Given the description of an element on the screen output the (x, y) to click on. 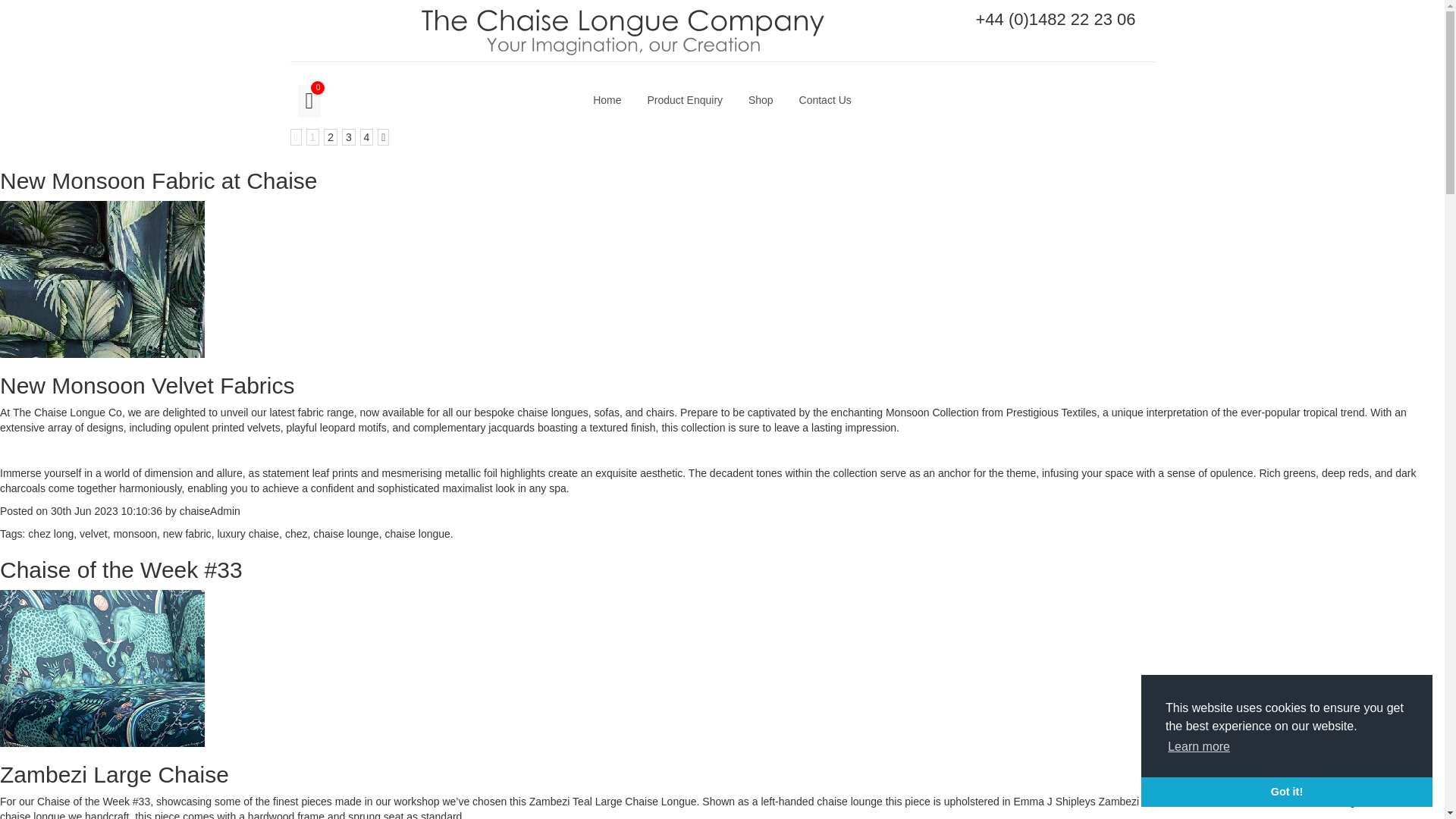
Product Enquiry (683, 99)
new fabric (187, 533)
The Chaise Longue Co. (623, 30)
Learn more (1198, 746)
monsoon (135, 533)
chaise lounge (345, 533)
The Chaise Longue Co (67, 412)
chez long (50, 533)
Online Shop (760, 99)
Contact Us (825, 99)
New Monsoon Fabric at Chaise  (158, 180)
New Monsoon Fabric at Chaise  (102, 277)
Shop (760, 99)
Search entries with this tag (50, 533)
Home (605, 99)
